Given the description of an element on the screen output the (x, y) to click on. 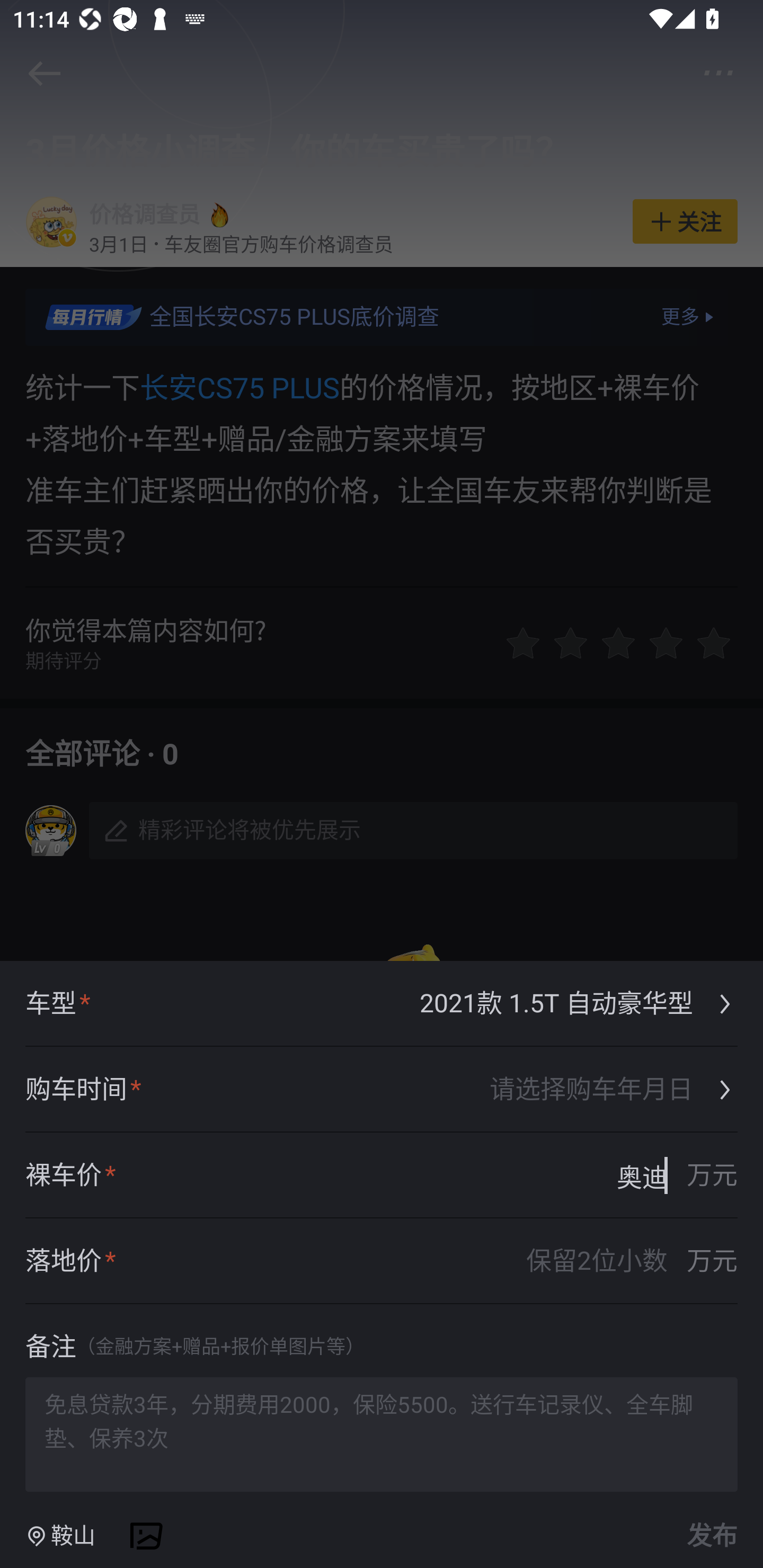
车型 * 2021款 1.5T 自动豪华型 (381, 1004)
购车时间 * 请选择购车年月日 (381, 1089)
免息贷款3年，分期费用2000，保险5500。送行车记录仪、全车脚垫、保养3次 (381, 1433)
发布 (708, 1535)
鞍山 (60, 1536)
